Given the description of an element on the screen output the (x, y) to click on. 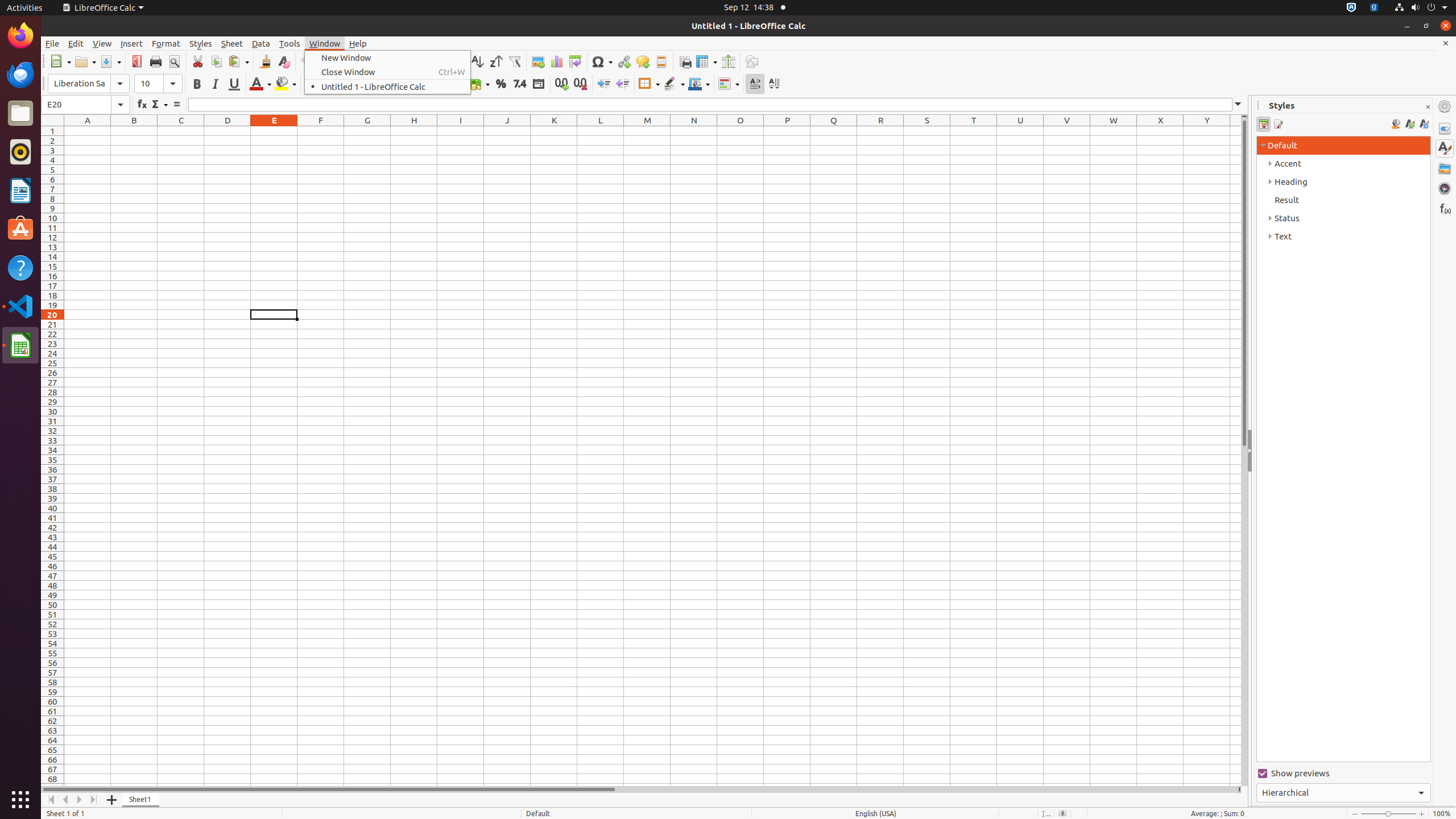
Text direction from left to right Element type: toggle-button (754, 83)
Sheet1 Element type: page-tab (140, 799)
LibreOffice Writer Element type: push-button (20, 190)
U1 Element type: table-cell (1020, 130)
Borders (Shift to overwrite) Element type: push-button (648, 83)
